Given the description of an element on the screen output the (x, y) to click on. 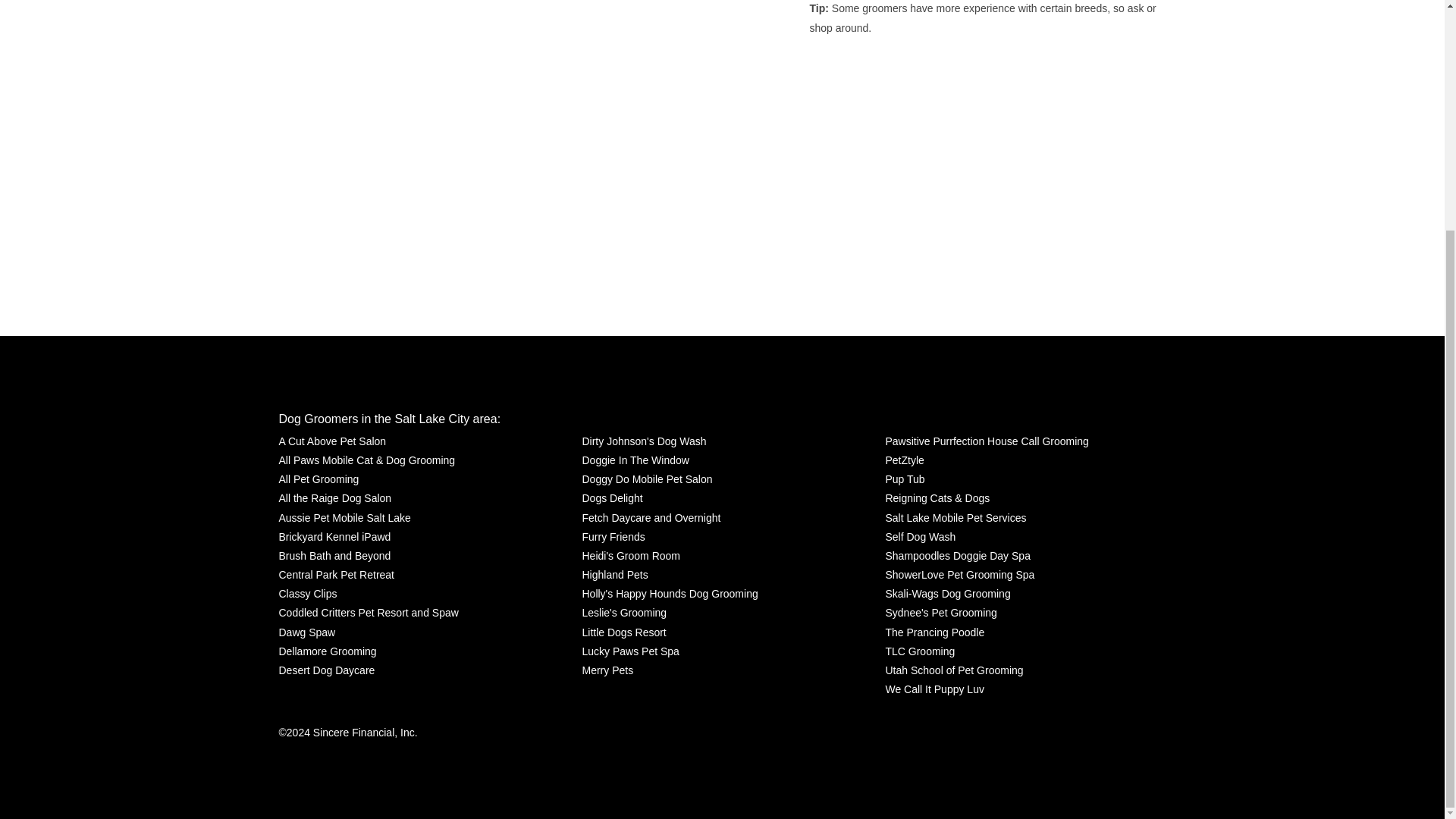
Pawsitive Purrfection House Call Grooming (986, 441)
Holly's Happy Hounds Dog Grooming (668, 593)
Aussie Pet Mobile Salt Lake (344, 517)
Coddled Critters Pet Resort and Spaw (368, 612)
Salt Lake Mobile Pet Services (955, 517)
Central Park Pet Retreat (336, 574)
Dog Groomers in the Salt Lake City area: (389, 418)
Classy Clips (308, 593)
Brickyard Kennel iPawd (335, 537)
A Cut Above Pet Salon (333, 441)
